Given the description of an element on the screen output the (x, y) to click on. 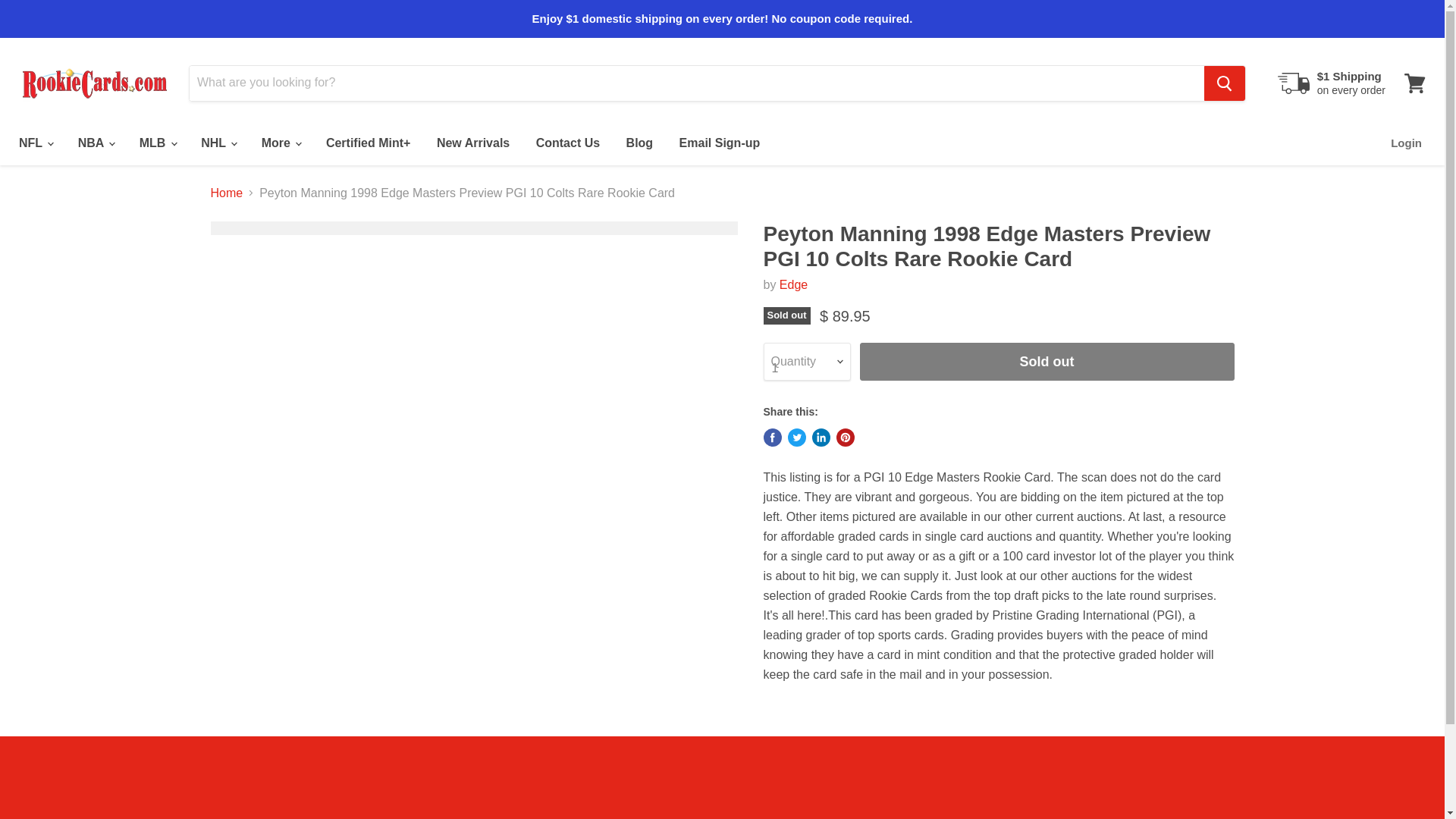
Edge (793, 284)
NFL (34, 142)
View cart (1414, 82)
